Given the description of an element on the screen output the (x, y) to click on. 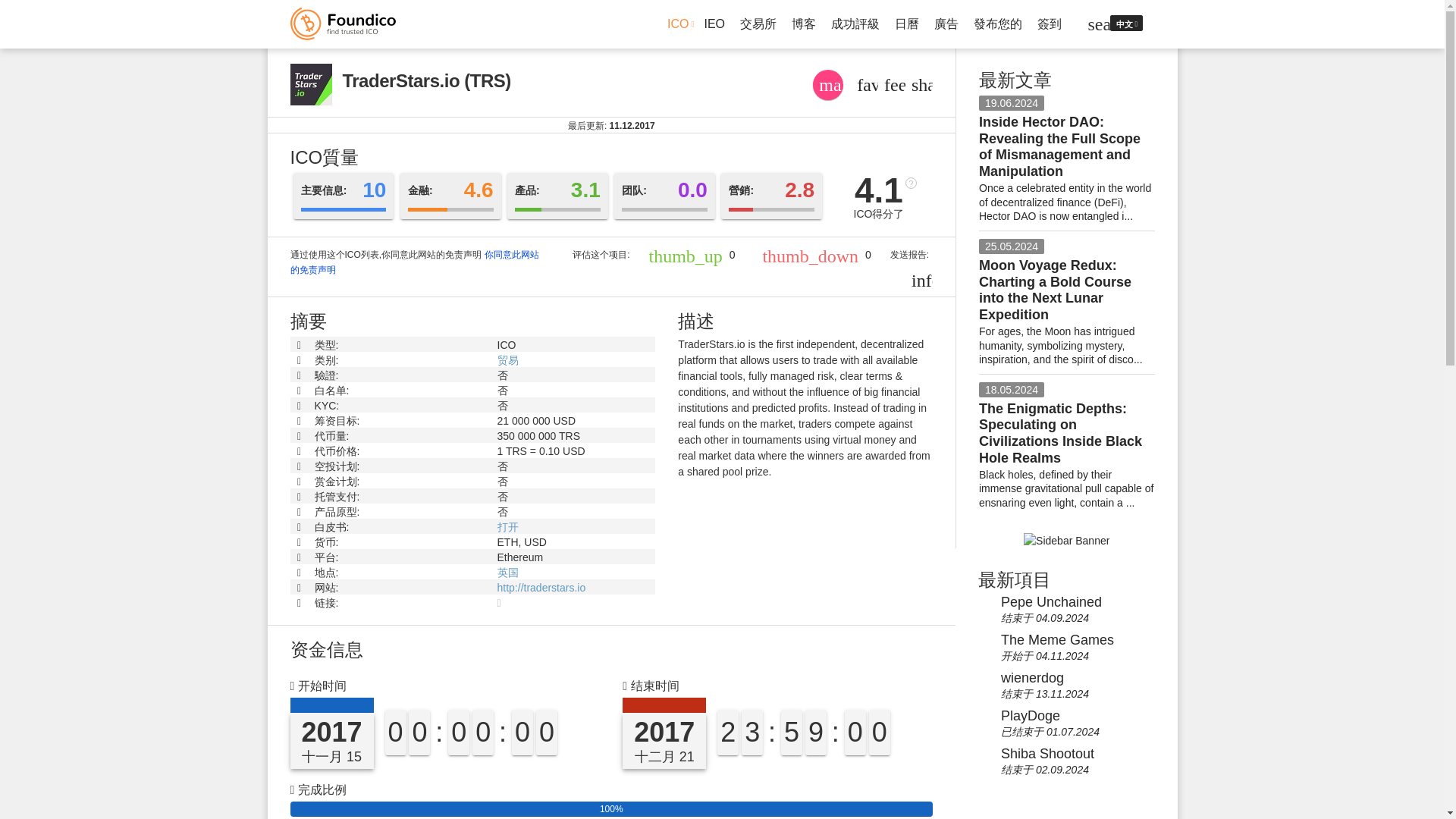
feedback (892, 84)
ICO (677, 23)
IEO (714, 23)
share (920, 84)
